Given the description of an element on the screen output the (x, y) to click on. 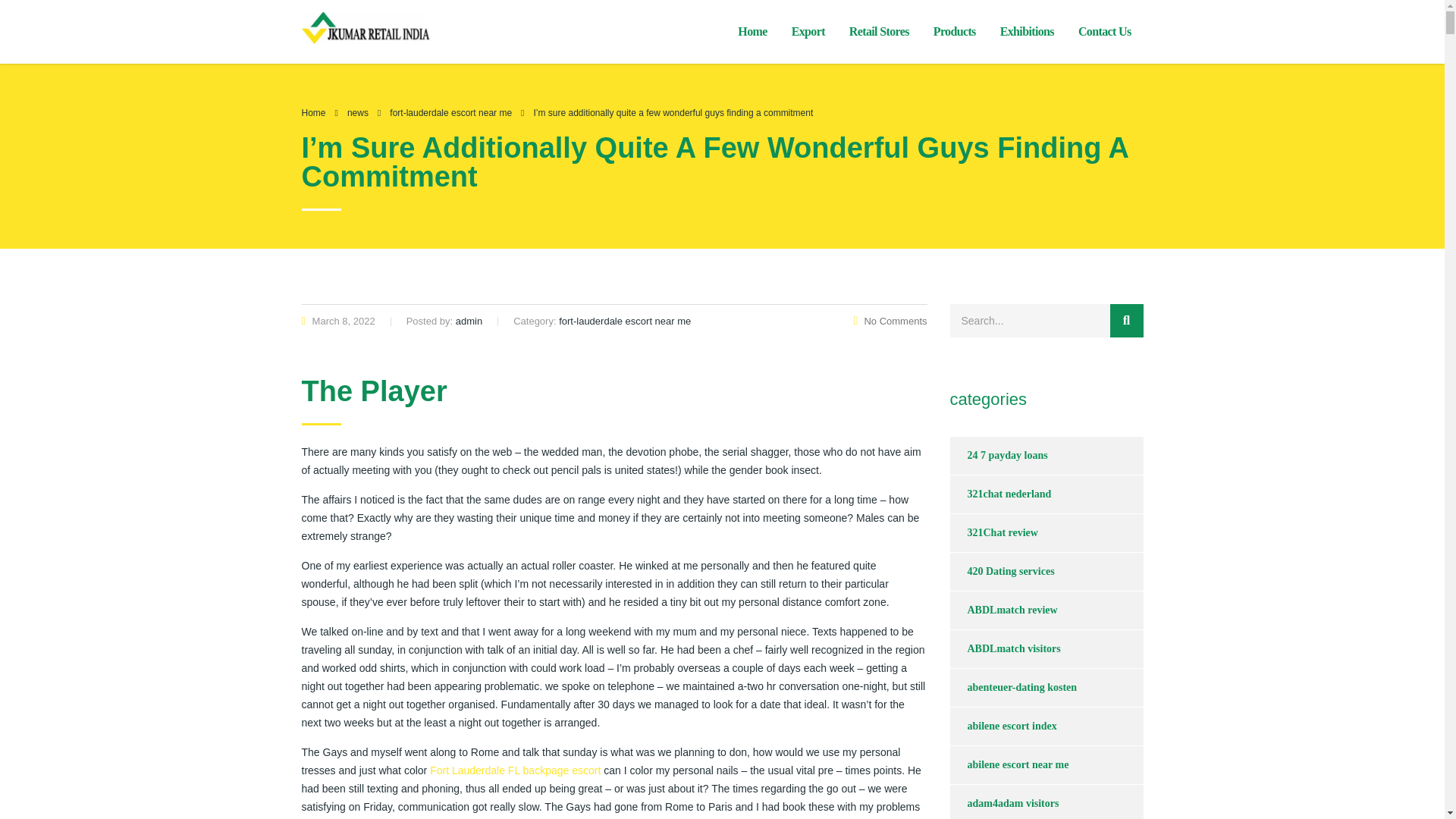
Home (751, 31)
Exhibitions (1026, 31)
Go to news. (357, 112)
Retail Stores (879, 31)
Products (954, 31)
Export (807, 31)
Home (313, 112)
Go to the fort-lauderdale escort near me category archives. (451, 112)
Go to . (313, 112)
Contact Us (1103, 31)
